Given the description of an element on the screen output the (x, y) to click on. 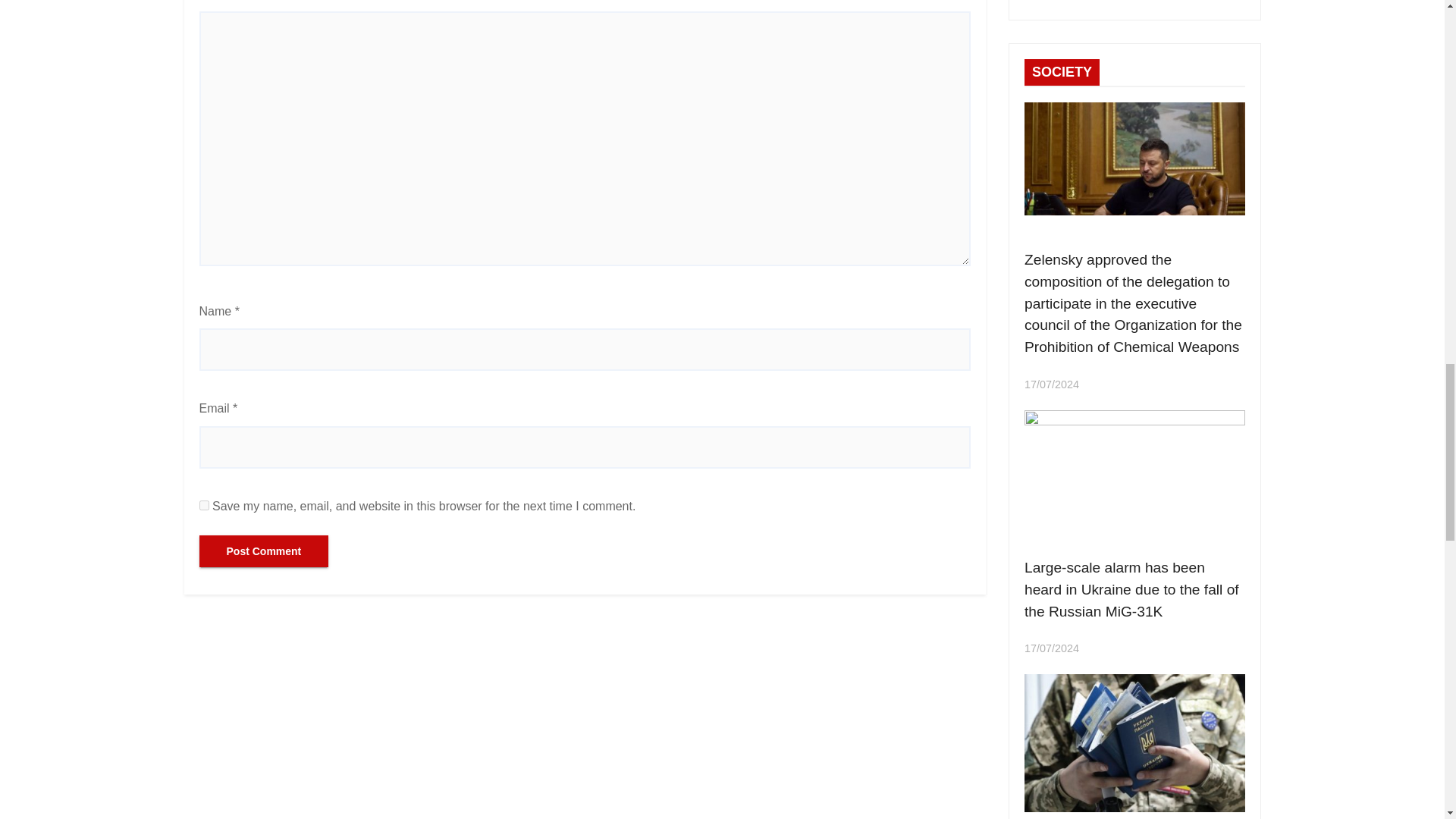
Post Comment (263, 551)
yes (203, 505)
